Given the description of an element on the screen output the (x, y) to click on. 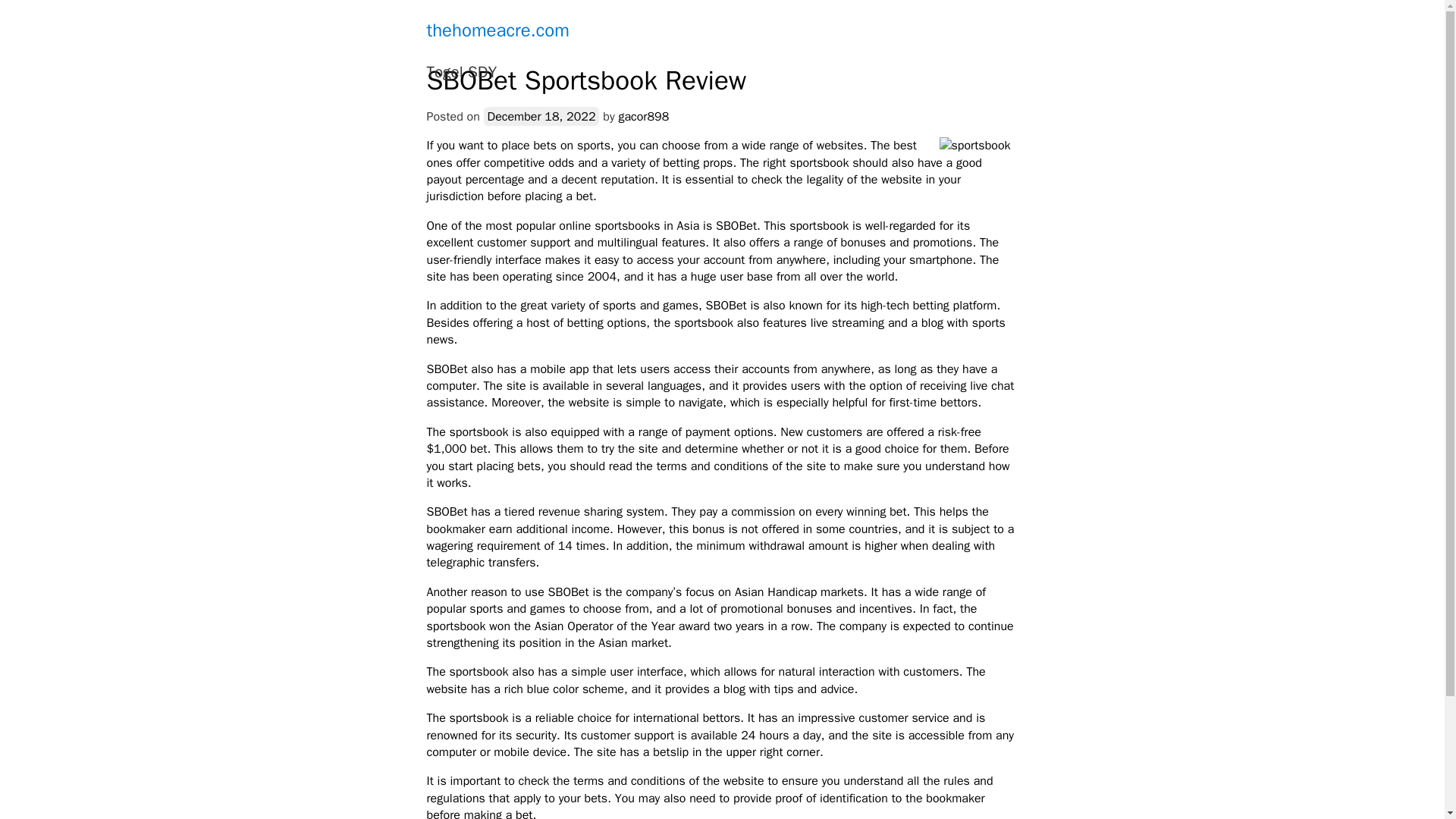
December 18, 2022 (541, 116)
Togel SDY (461, 73)
thehomeacre.com (497, 29)
